Given the description of an element on the screen output the (x, y) to click on. 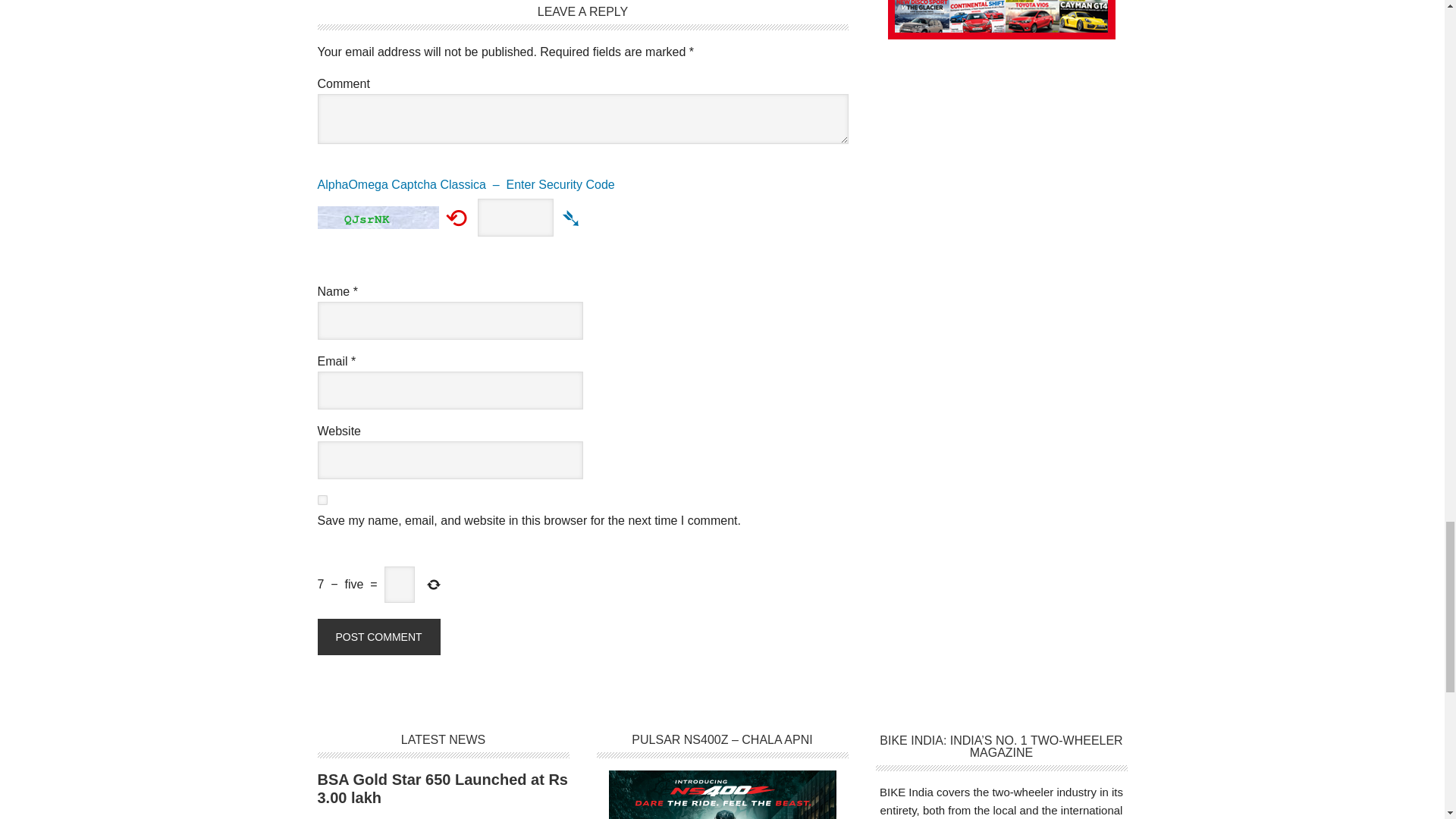
 Checkout the AlphaOmega Captcha Plugin at WordPress.org  (582, 189)
Post Comment (378, 637)
yes (321, 500)
 Checkout the AlphaOmega Captcha Plugin at WordPress.org  (571, 216)
 Reload AlphaOmega Captcha  (456, 216)
